Given the description of an element on the screen output the (x, y) to click on. 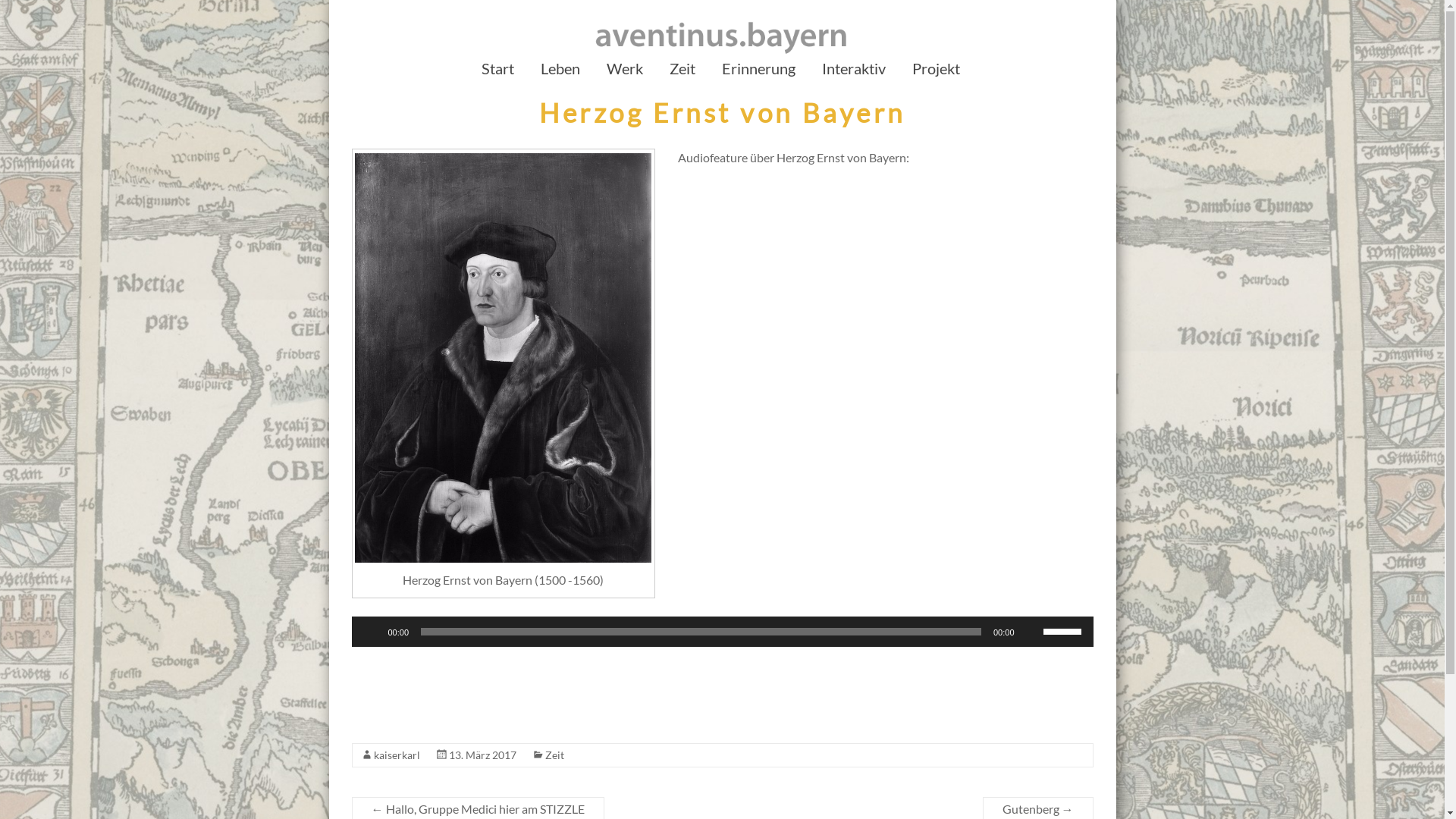
Interaktiv Element type: text (853, 71)
kaiserkarl Element type: text (396, 754)
Leben Element type: text (560, 71)
Abspielen Element type: hover (371, 631)
Zeit Element type: text (682, 71)
Werk Element type: text (624, 71)
Start Element type: text (497, 71)
Projekt Element type: text (936, 71)
Zeit Element type: text (553, 754)
Stumm Element type: hover (1030, 631)
Erinnerung Element type: text (758, 71)
